Given the description of an element on the screen output the (x, y) to click on. 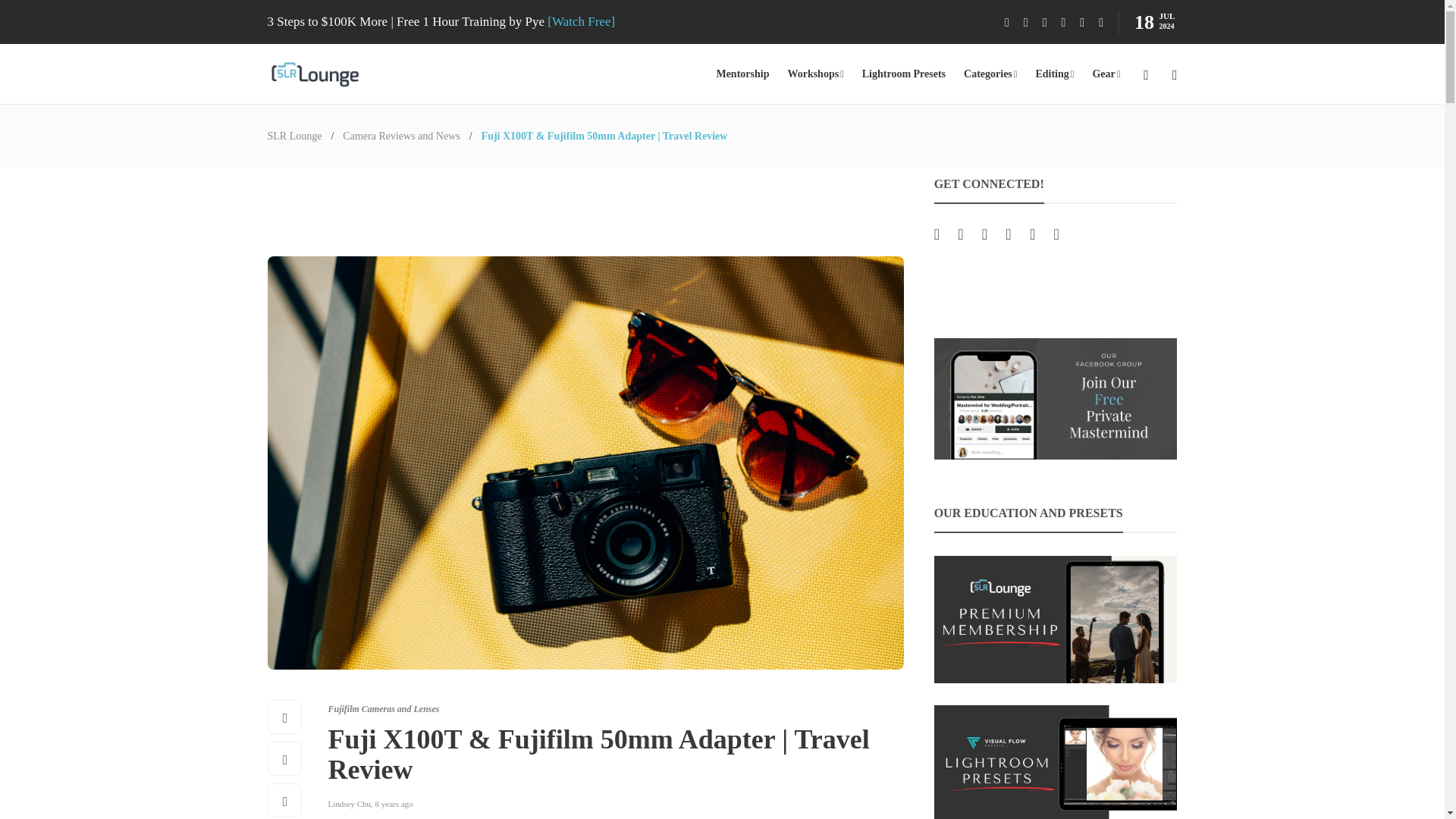
SLR Lounge (293, 135)
